Given the description of an element on the screen output the (x, y) to click on. 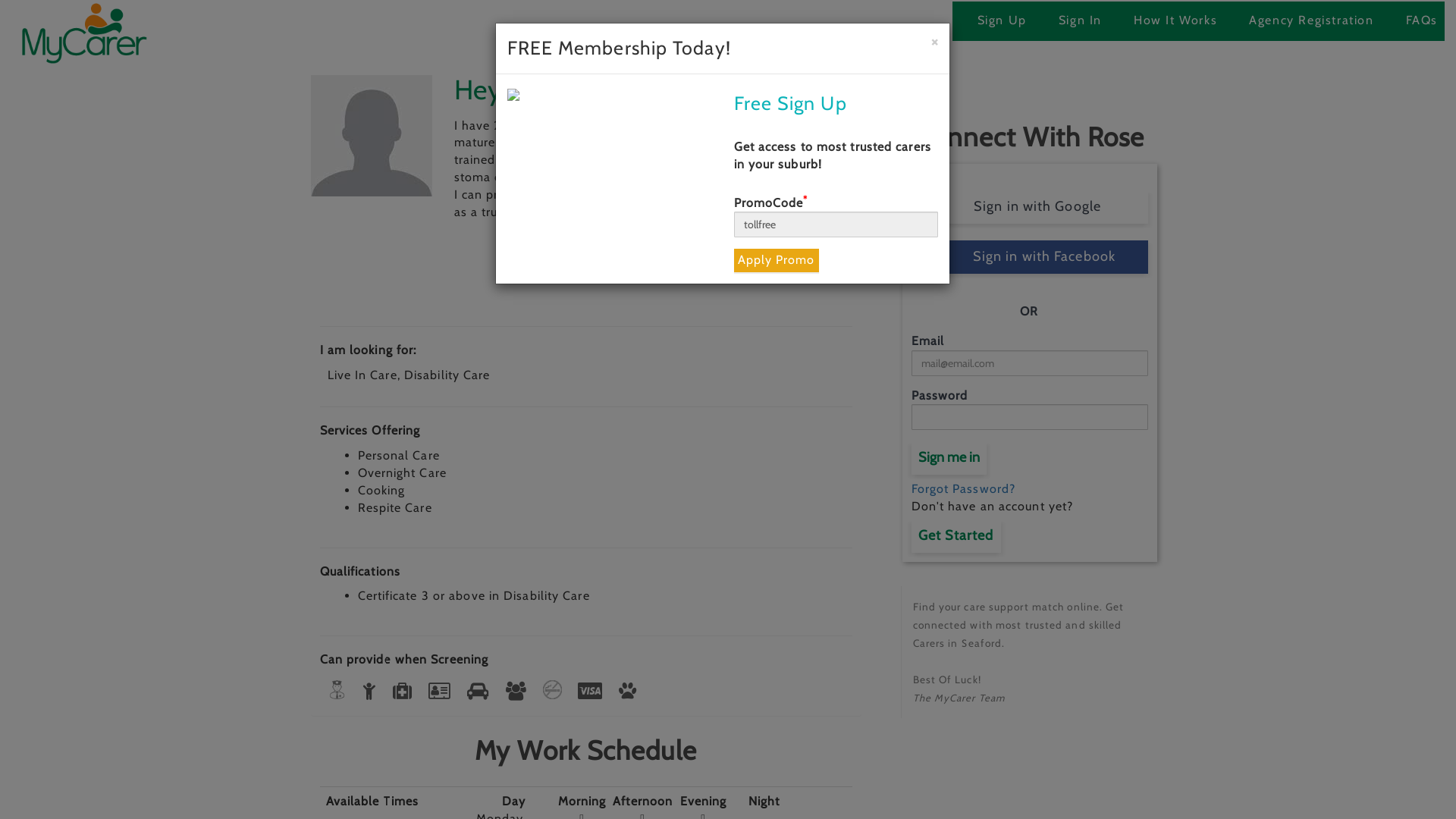
Sign In Element type: text (1079, 20)
Australian resident/ An eligible work visa Element type: hover (592, 690)
Forgot Password? Element type: text (963, 488)
Working with children check Element type: hover (371, 690)
Australian driving license Element type: hover (441, 690)
Two or more references Element type: hover (518, 690)
Agency Registration Element type: text (1310, 20)
Sign Up Element type: text (1001, 20)
Apply Promo Element type: text (776, 260)
FAQs Element type: text (1421, 20)
Sign in with Google Element type: text (1029, 206)
How It Works Element type: text (1175, 20)
Own transport Element type: hover (480, 690)
OK with pets Element type: hover (629, 690)
Non Smoker Element type: hover (554, 689)
Sign in with Facebook Element type: text (1029, 256)
Sign me in Element type: text (948, 457)
First aid training Element type: hover (404, 690)
Get Started Element type: text (956, 535)
